Given the description of an element on the screen output the (x, y) to click on. 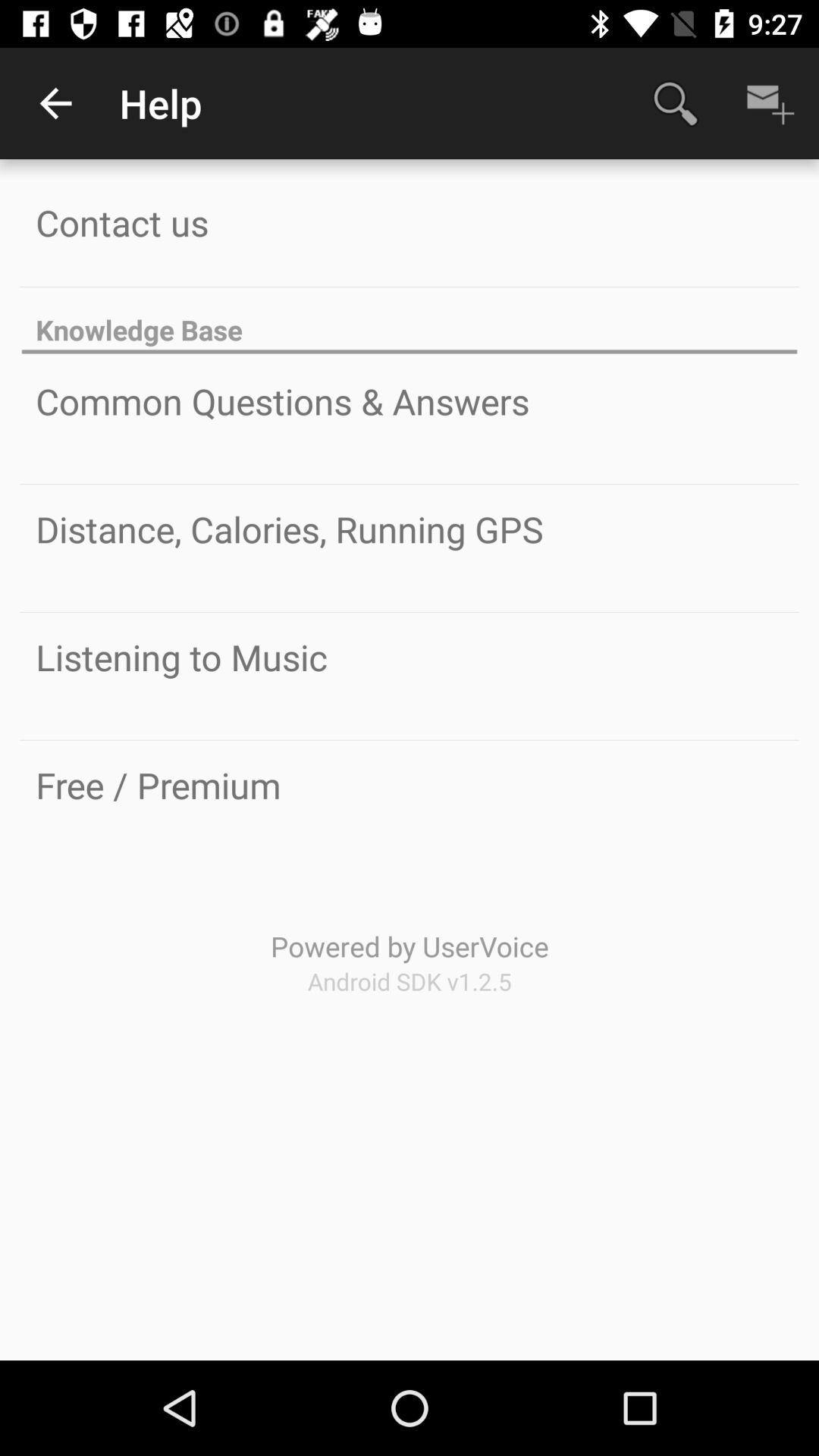
launch the icon above android sdk v1 item (409, 946)
